Given the description of an element on the screen output the (x, y) to click on. 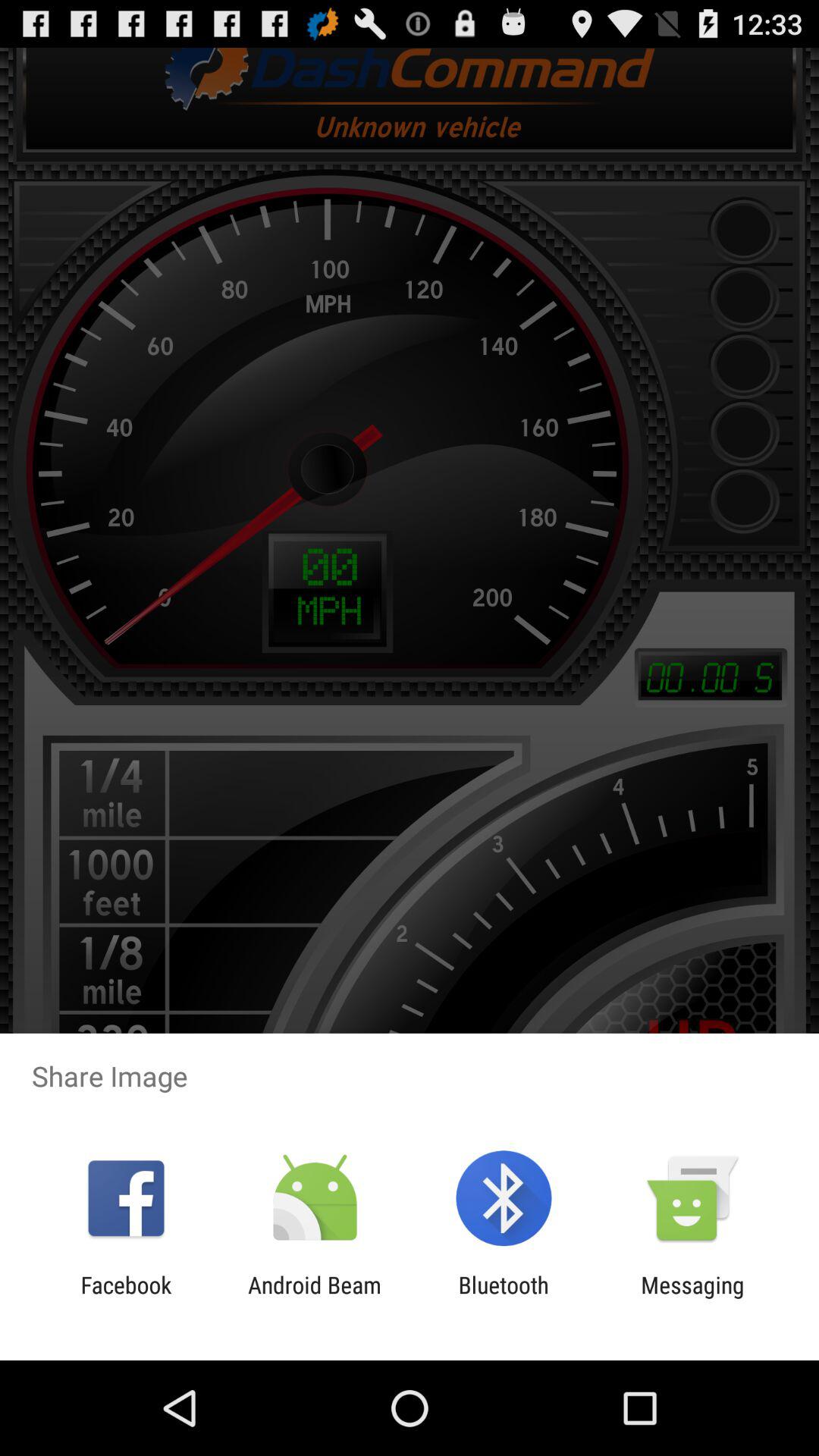
select the icon next to android beam (503, 1298)
